Given the description of an element on the screen output the (x, y) to click on. 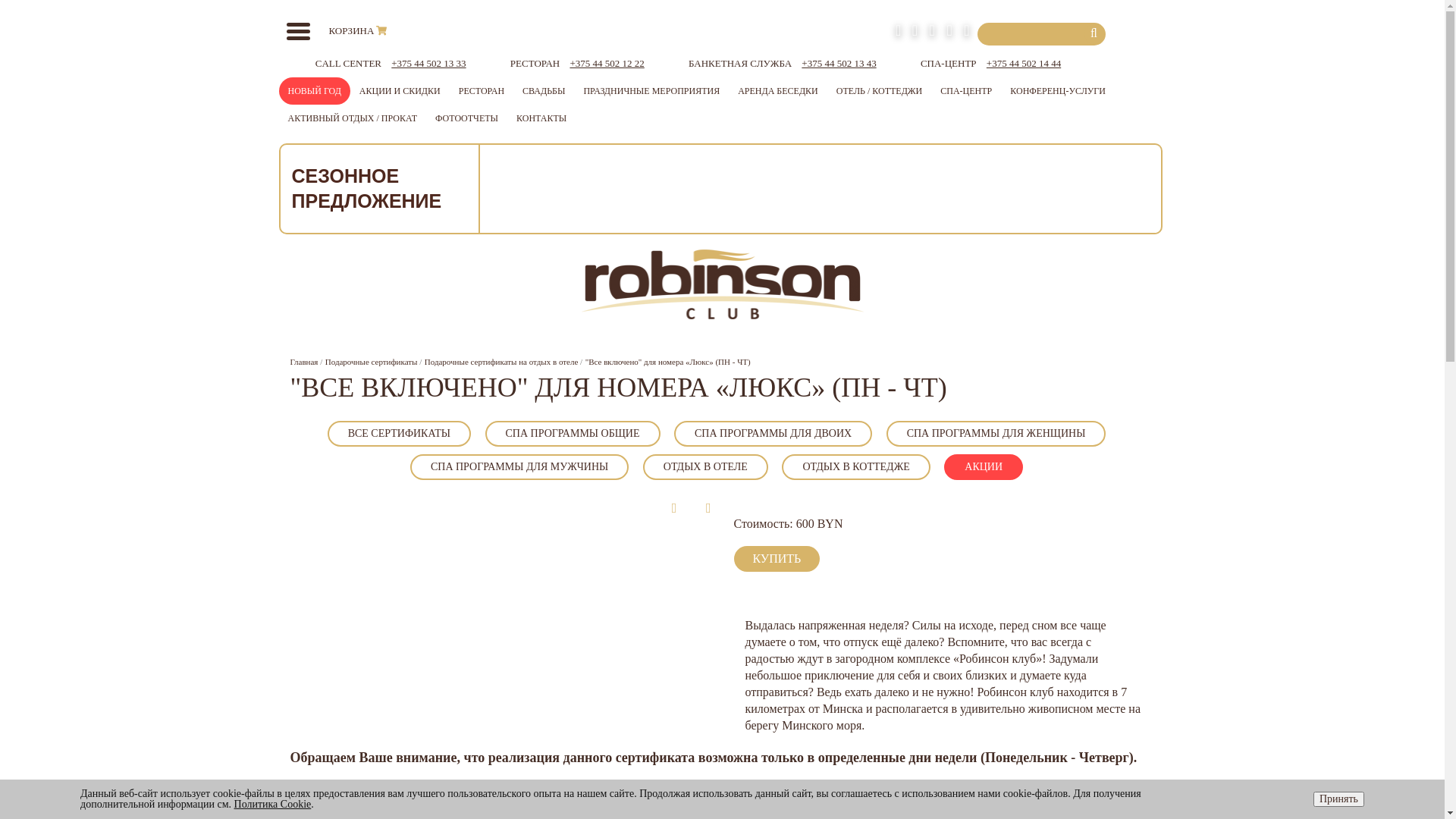
+375 44 502 13 33 Element type: text (428, 63)
+375 44 502 12 22 Element type: text (606, 63)
Toggle navigation Element type: text (298, 31)
+375 44 502 14 44 Element type: text (1023, 63)
+375 44 502 13 43 Element type: text (838, 63)
